Given the description of an element on the screen output the (x, y) to click on. 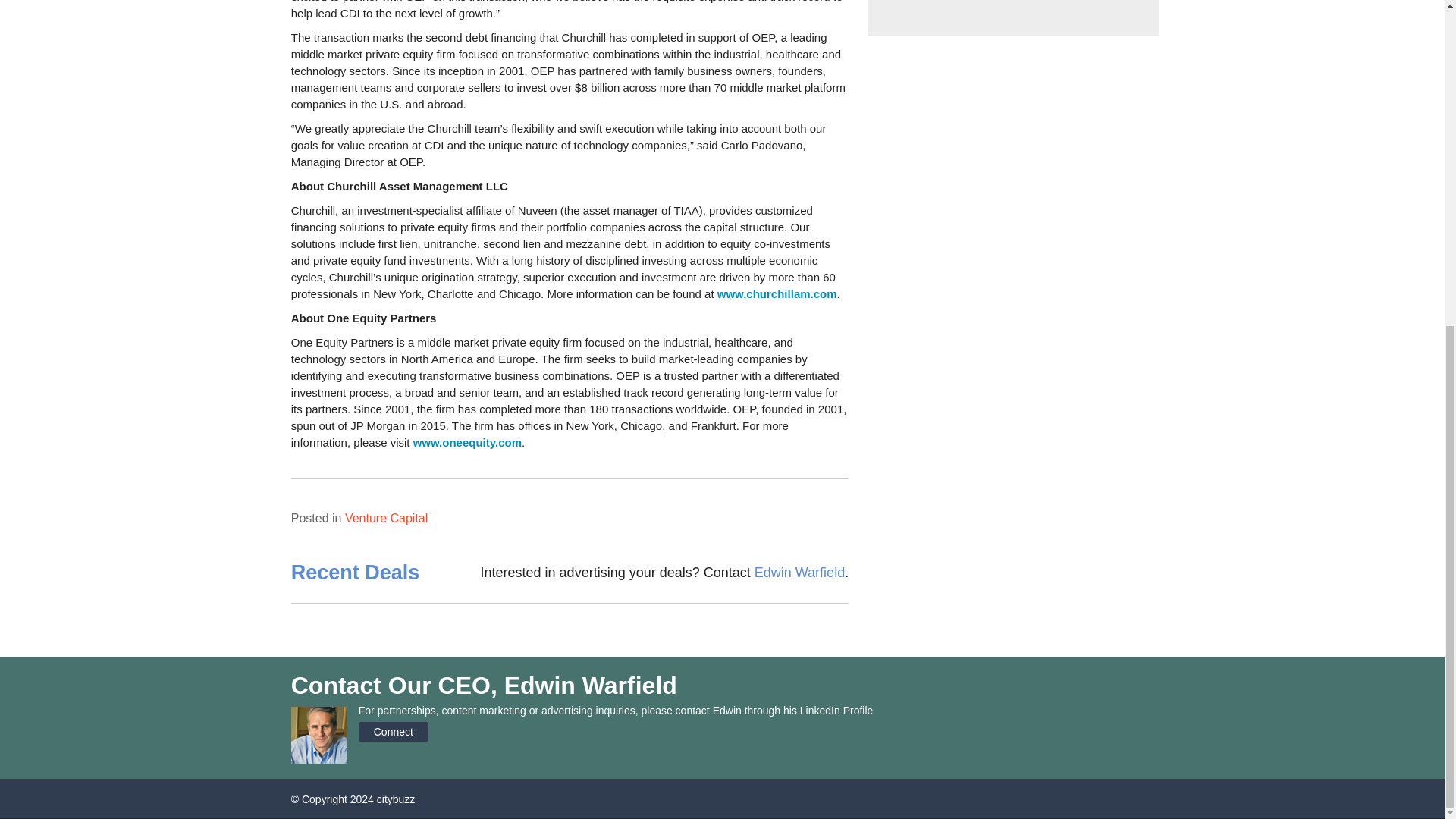
www.oneequity.com (467, 441)
www.churchillam.com (777, 293)
Connect (393, 731)
Venture Capital (386, 517)
Edwin Warfield (799, 572)
